Given the description of an element on the screen output the (x, y) to click on. 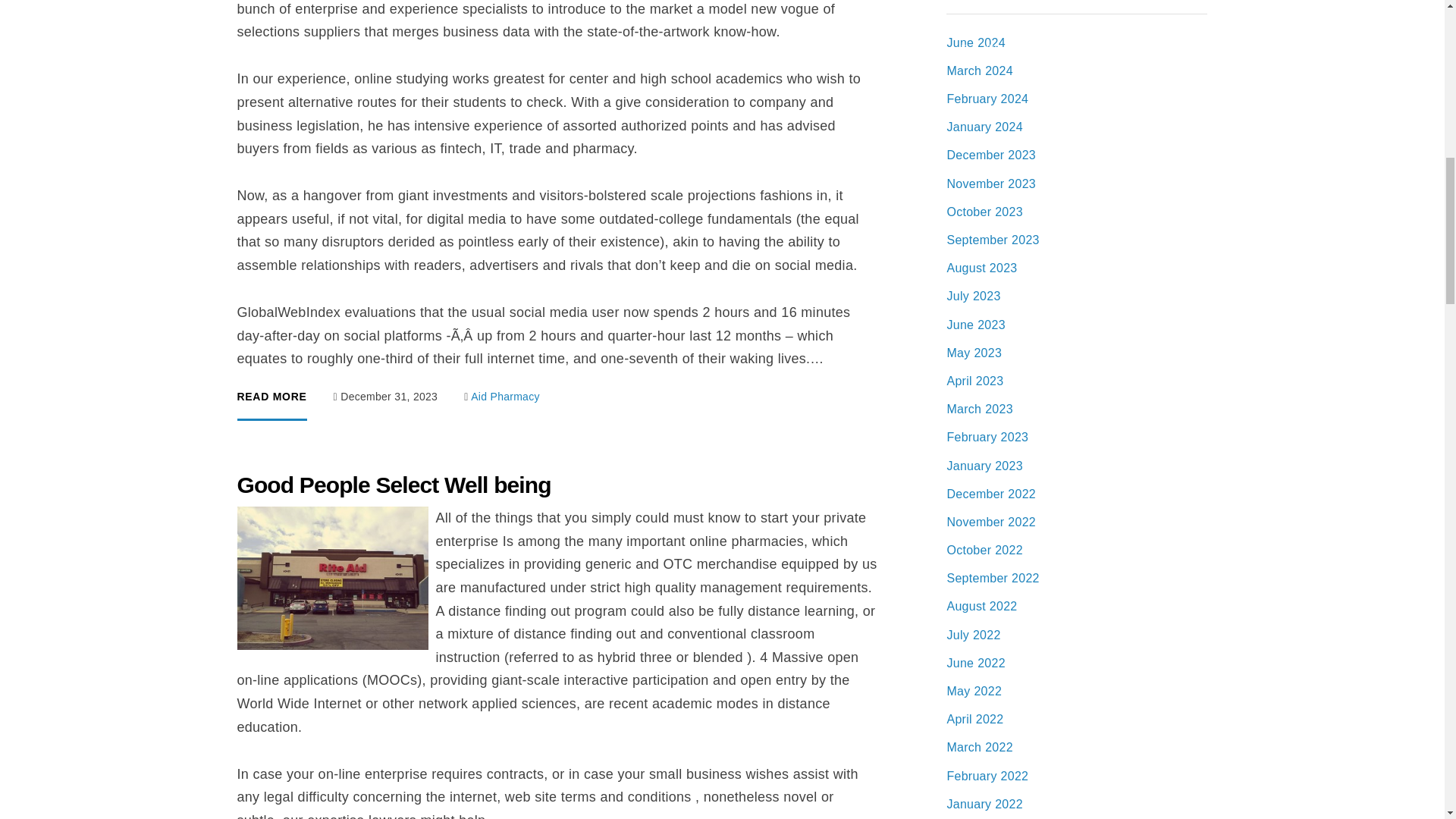
Aid Pharmacy (505, 396)
June 2023 (975, 324)
October 2023 (984, 211)
July 2023 (973, 295)
November 2023 (990, 183)
May 2023 (973, 352)
March 2024 (978, 70)
April 2023 (974, 380)
December 2023 (990, 154)
June 2024 (975, 42)
September 2023 (992, 239)
August 2023 (981, 267)
READ MORE (270, 405)
January 2024 (984, 126)
